Given the description of an element on the screen output the (x, y) to click on. 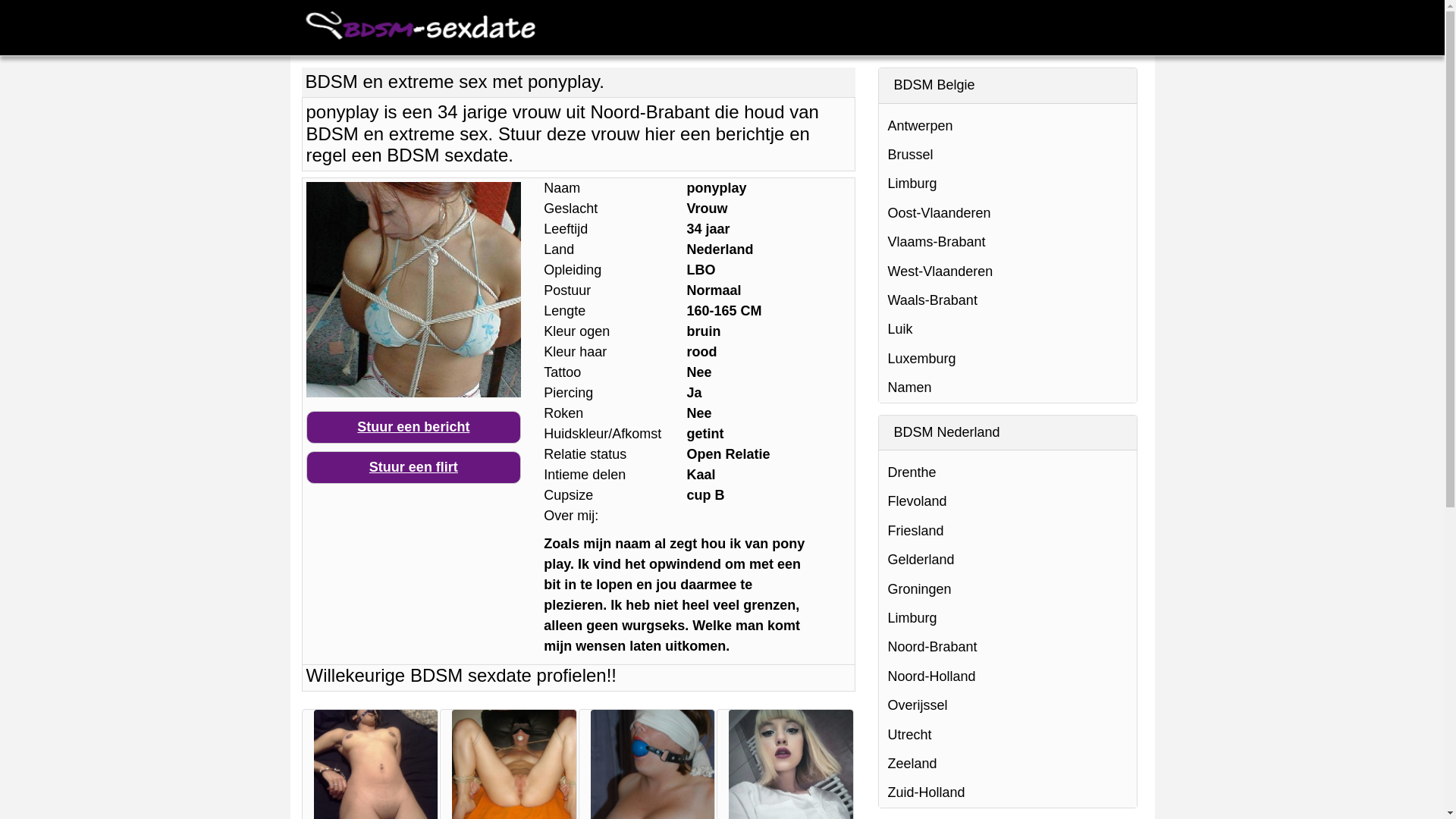
Noord-Brabant Element type: text (1007, 646)
Gelderland Element type: text (1007, 559)
Oost-Vlaanderen Element type: text (1007, 212)
Luxemburg Element type: text (1007, 358)
Stuur een flirt Element type: text (413, 467)
West-Vlaanderen Element type: text (1007, 271)
Noord-Holland Element type: text (1007, 676)
Utrecht Element type: text (1007, 734)
Brussel Element type: text (1007, 154)
Luik Element type: text (1007, 328)
Drenthe Element type: text (1007, 472)
Zeeland Element type: text (1007, 763)
Zuid-Holland Element type: text (1007, 792)
Overijssel Element type: text (1007, 704)
Stuur een bericht Element type: text (413, 427)
Antwerpen Element type: text (1007, 125)
Limburg Element type: text (1007, 617)
Namen Element type: text (1007, 387)
Stuur een flirt Element type: text (413, 466)
Limburg Element type: text (1007, 183)
Flevoland Element type: text (1007, 500)
Stuur een bericht Element type: text (413, 426)
Waals-Brabant Element type: text (1007, 299)
Friesland Element type: text (1007, 530)
Groningen Element type: text (1007, 588)
Vlaams-Brabant Element type: text (1007, 241)
